Given the description of an element on the screen output the (x, y) to click on. 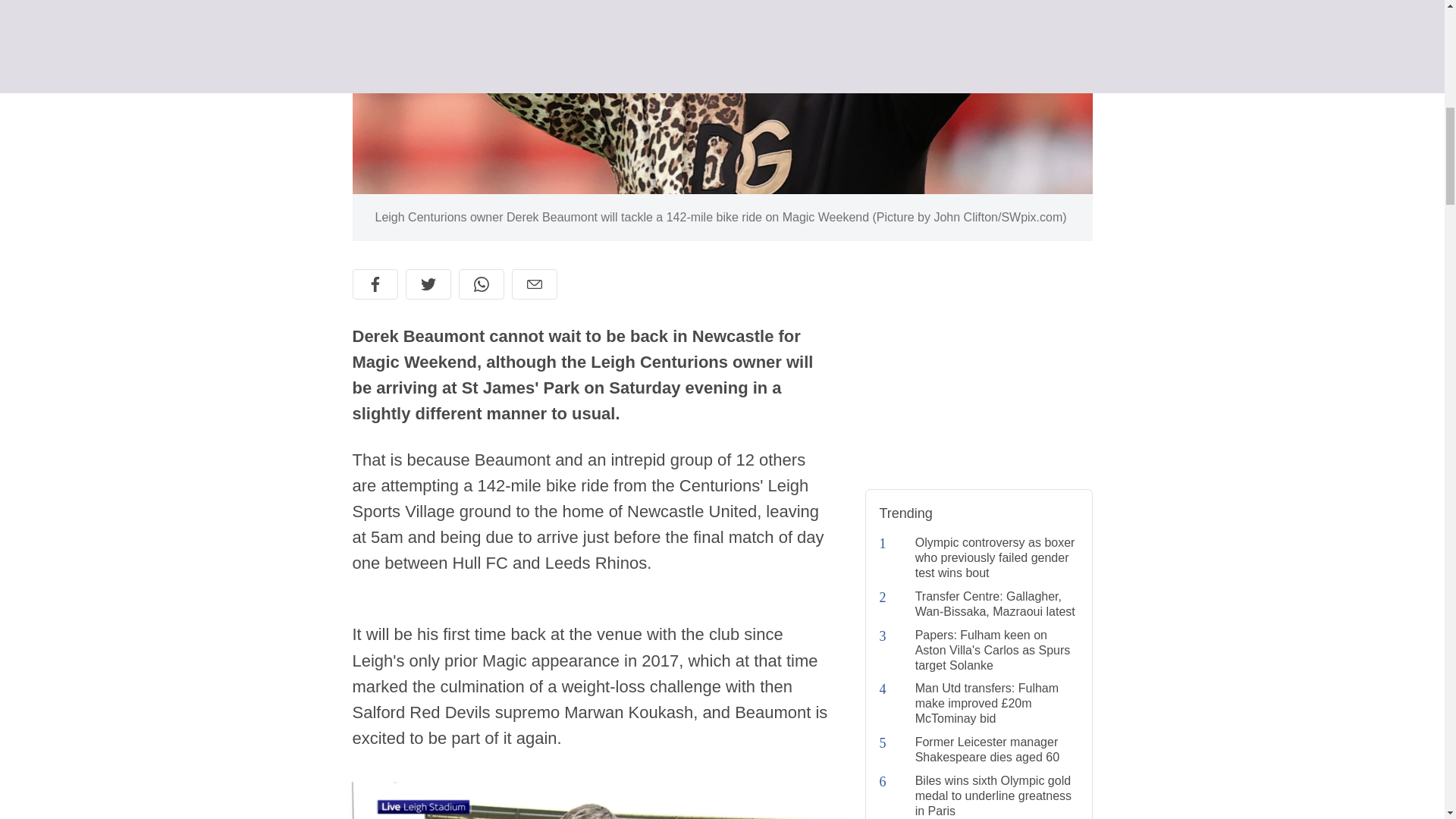
Share on WhatsApp (480, 284)
Share by email (533, 284)
Share on Twitter (426, 284)
Share on Facebook (374, 284)
